Given the description of an element on the screen output the (x, y) to click on. 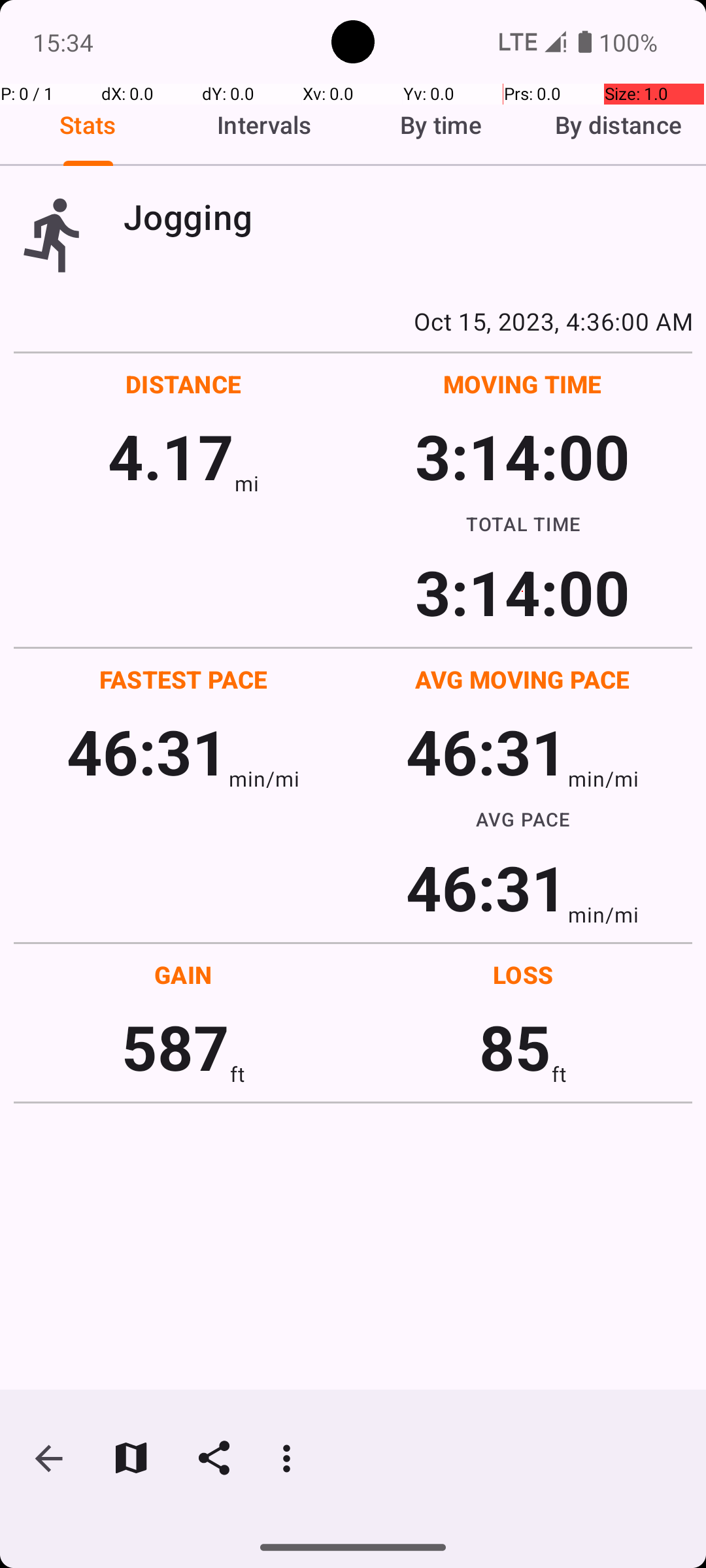
Jogging Element type: android.widget.TextView (407, 216)
Oct 15, 2023, 4:36:00 AM Element type: android.widget.TextView (352, 320)
4.17 Element type: android.widget.TextView (170, 455)
3:14:00 Element type: android.widget.TextView (522, 455)
46:31 Element type: android.widget.TextView (147, 750)
587 Element type: android.widget.TextView (175, 1045)
85 Element type: android.widget.TextView (515, 1045)
